Given the description of an element on the screen output the (x, y) to click on. 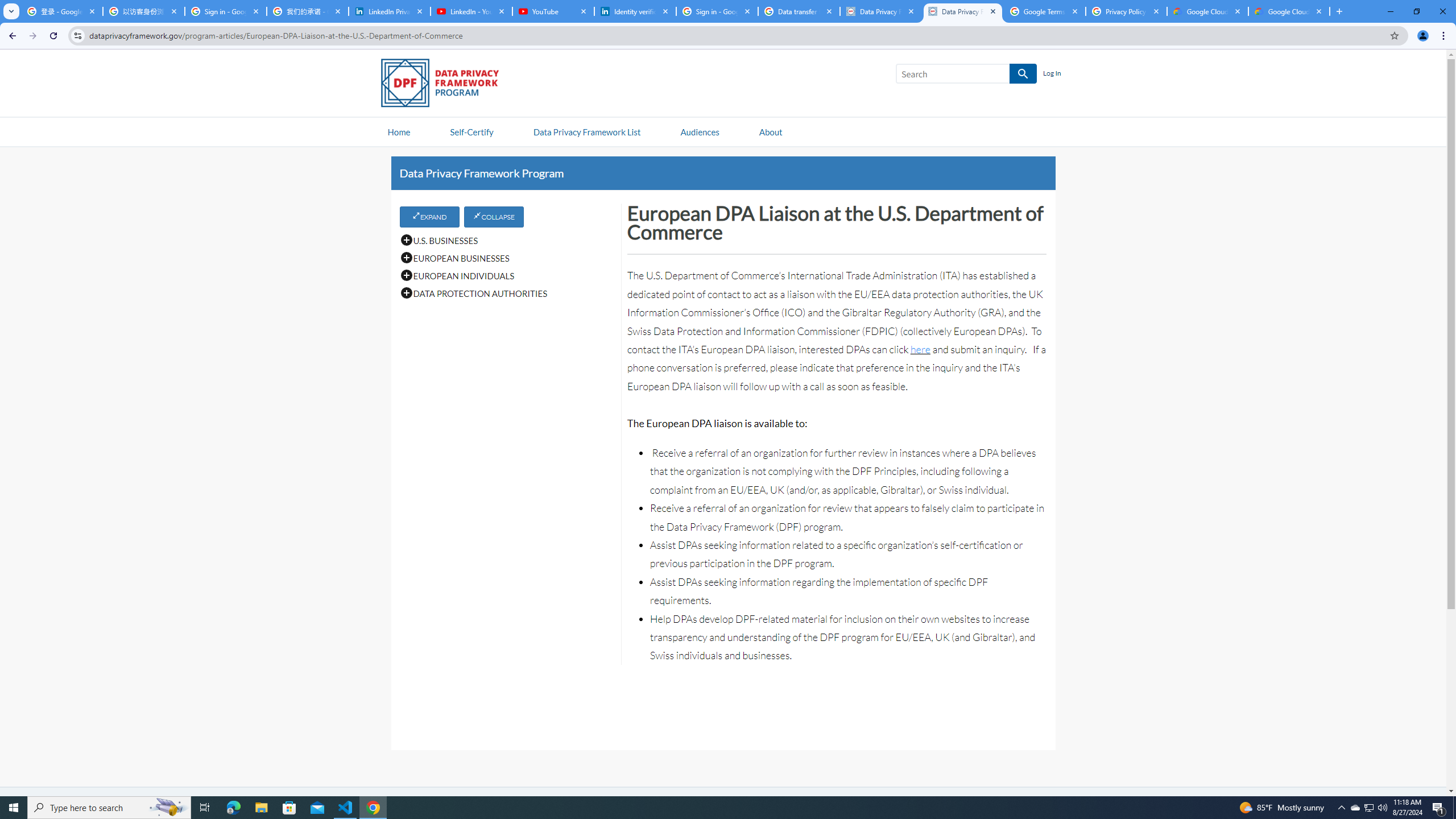
YouTube (552, 11)
Search SEARCH (965, 75)
EXPAND (429, 216)
Audiences (699, 131)
SEARCH (1022, 73)
About (769, 131)
COLLAPSE (494, 216)
Data Privacy Framework Logo - Link to Homepage (445, 85)
